Given the description of an element on the screen output the (x, y) to click on. 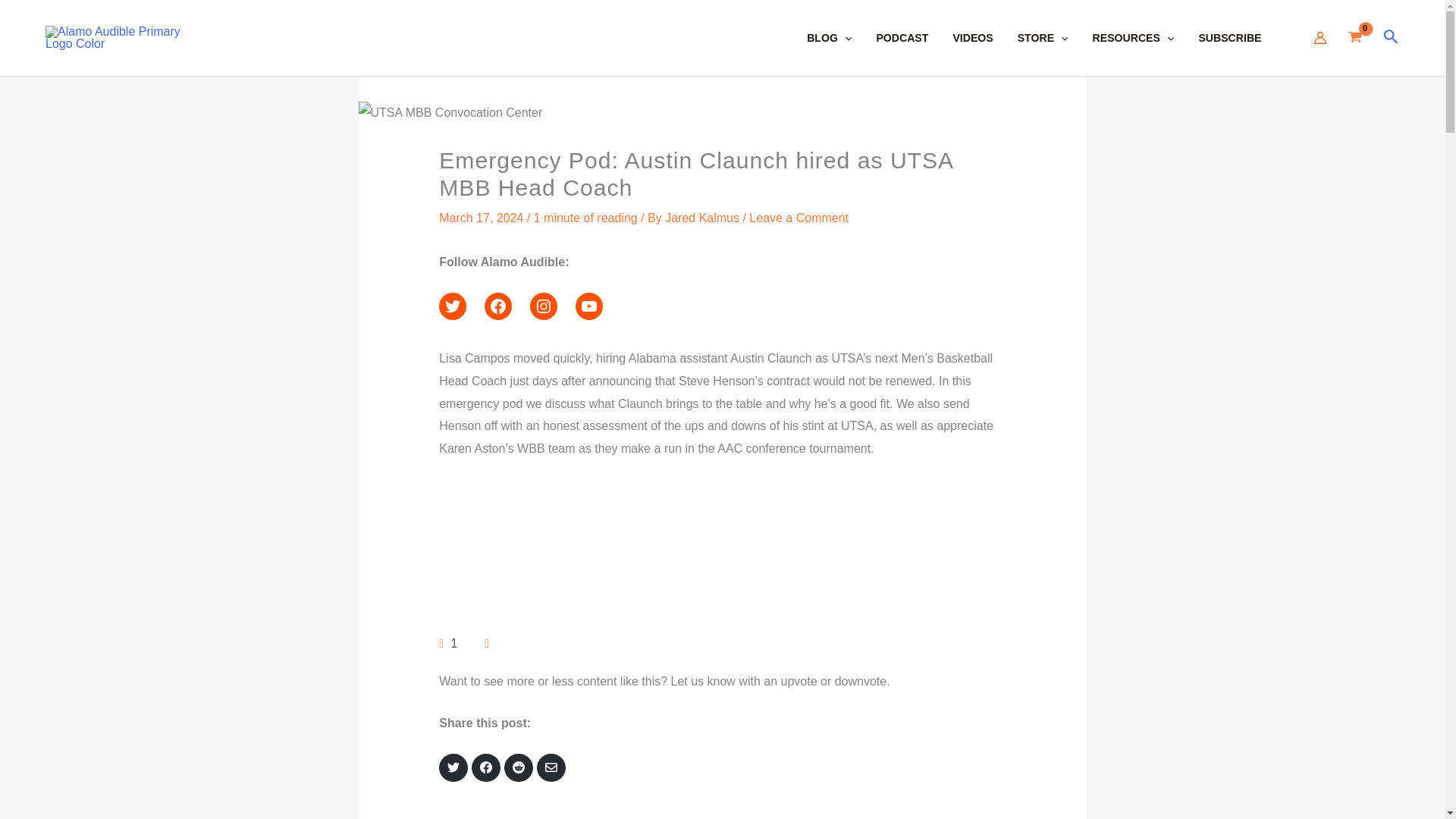
PODCAST (914, 38)
Share on Twitter (453, 767)
Share on Reddit (518, 767)
Share on Facebook (485, 767)
Share via Email (550, 767)
BLOG (841, 38)
Share on Facebook (486, 767)
Embed Player (722, 551)
Share on Twitter (453, 767)
STORE (1055, 38)
